Given the description of an element on the screen output the (x, y) to click on. 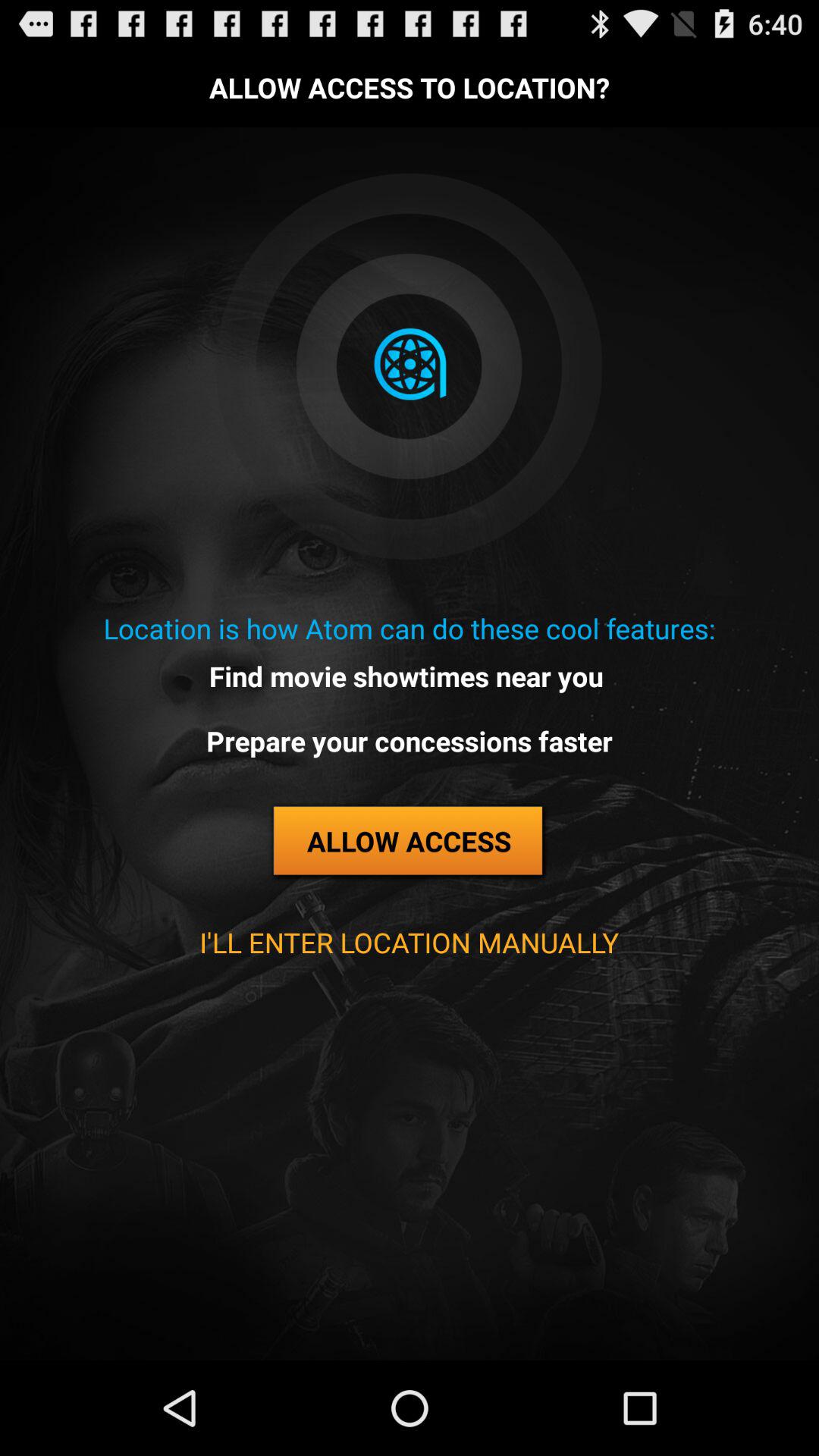
launch i ll enter app (408, 942)
